Given the description of an element on the screen output the (x, y) to click on. 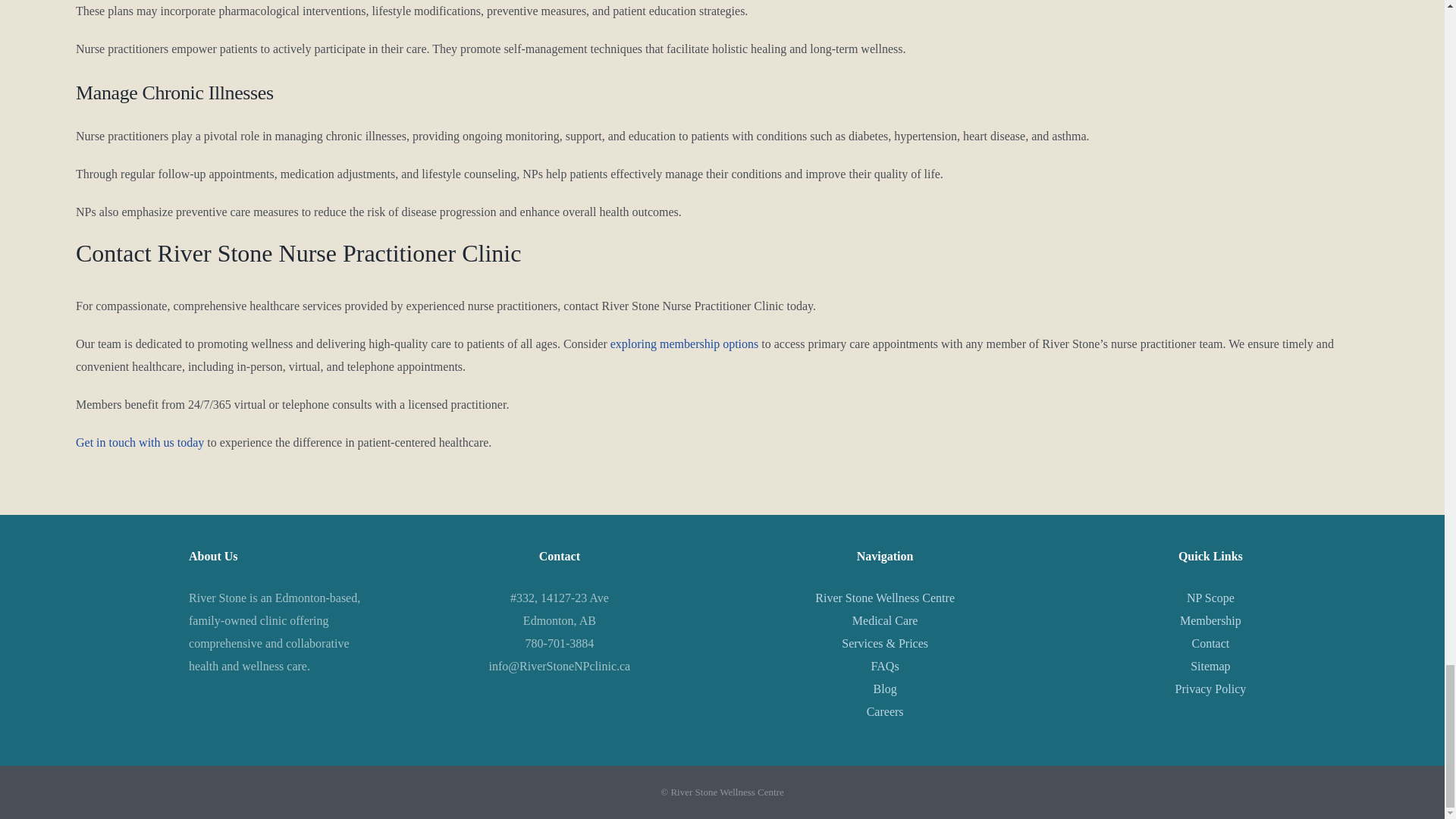
Membership (1210, 620)
FAQs (884, 666)
River Stone Wellness Centre (885, 597)
Get in touch with us today (139, 441)
Blog (884, 688)
exploring membership options (684, 343)
Sitemap (1210, 666)
Medical Care (884, 620)
NP Scope (1210, 597)
Careers (885, 711)
